Given the description of an element on the screen output the (x, y) to click on. 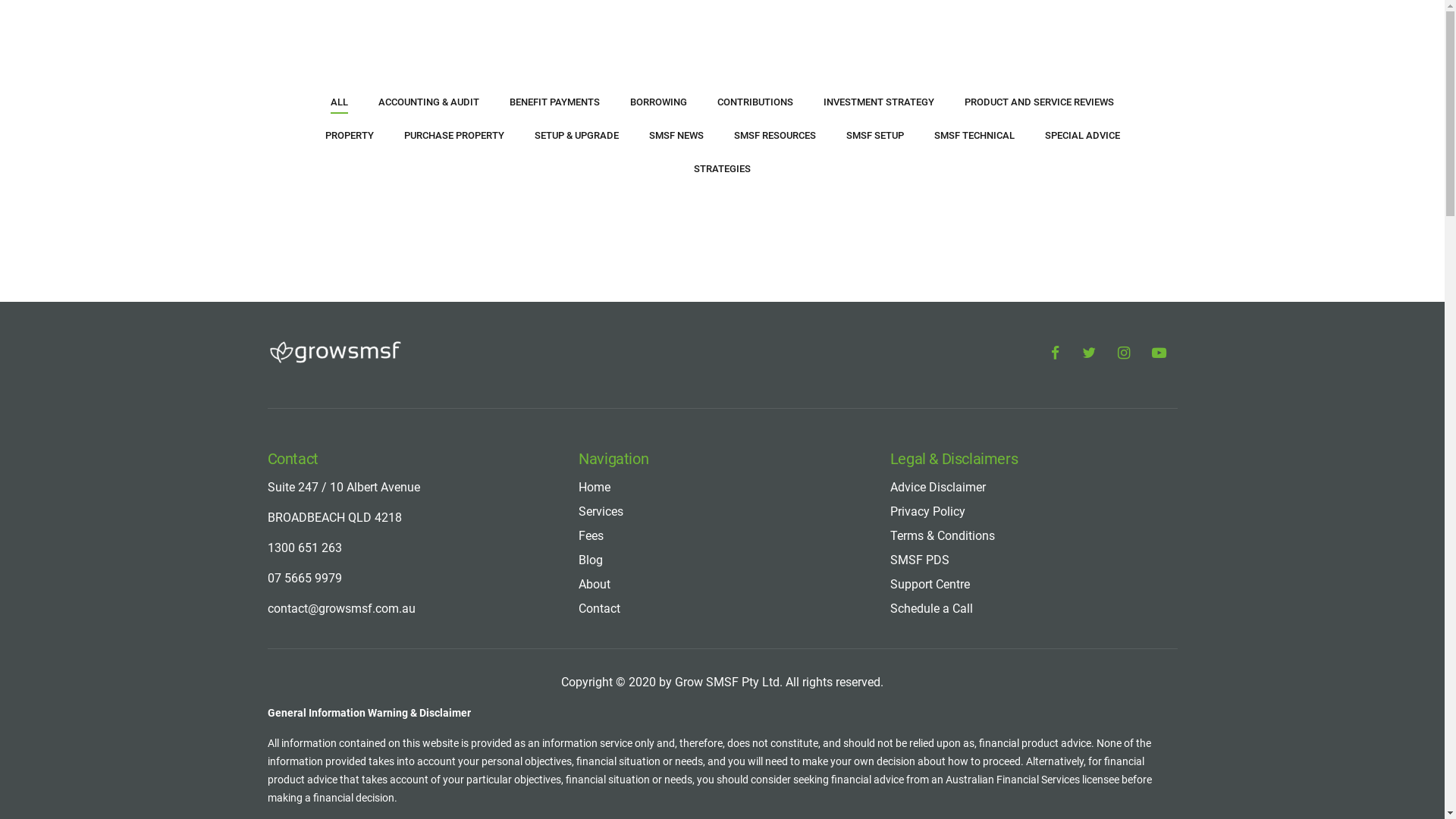
Fees Element type: text (590, 535)
Support Centre Element type: text (918, 348)
SMSF Transfer Element type: text (769, 370)
07 5665 9979 Element type: text (303, 578)
US Stocks Element type: text (759, 282)
Services Element type: text (595, 282)
Blog Element type: text (586, 326)
grow-inline-w950 Element type: hover (333, 144)
Property Element type: text (754, 326)
1300 651 263 Element type: text (295, 317)
ASX Element type: text (746, 260)
Blog Element type: text (590, 559)
26057627 Element type: text (777, 431)
Schedule a Call Element type: text (920, 370)
Cryptocurrency Element type: text (769, 304)
07 5665 9979 Element type: text (295, 345)
About Element type: text (589, 348)
SMSF PDS Element type: text (919, 559)
Terms & Conditions Element type: text (928, 304)
SMSF PDS Element type: text (910, 326)
Home Element type: text (594, 487)
Privacy Policy Element type: text (916, 282)
grow-inline-w950 Element type: hover (333, 352)
Contact Element type: text (599, 608)
Advice Disclaimer Element type: text (937, 487)
contact@growsmsf.com.au Element type: text (340, 608)
Support Centre Element type: text (929, 584)
Services Element type: text (600, 511)
Schedule a Call Element type: text (931, 608)
SMSF Setup Element type: text (763, 348)
Contact Element type: text (593, 370)
Fees Element type: text (587, 304)
Terms & Conditions Element type: text (942, 535)
contact@growsmsf.com.au Element type: text (326, 373)
Advice Disclaimer Element type: text (925, 260)
About Element type: text (594, 584)
1300 651 263 Element type: text (303, 547)
Home Element type: text (589, 260)
Privacy Policy Element type: text (927, 511)
